Given the description of an element on the screen output the (x, y) to click on. 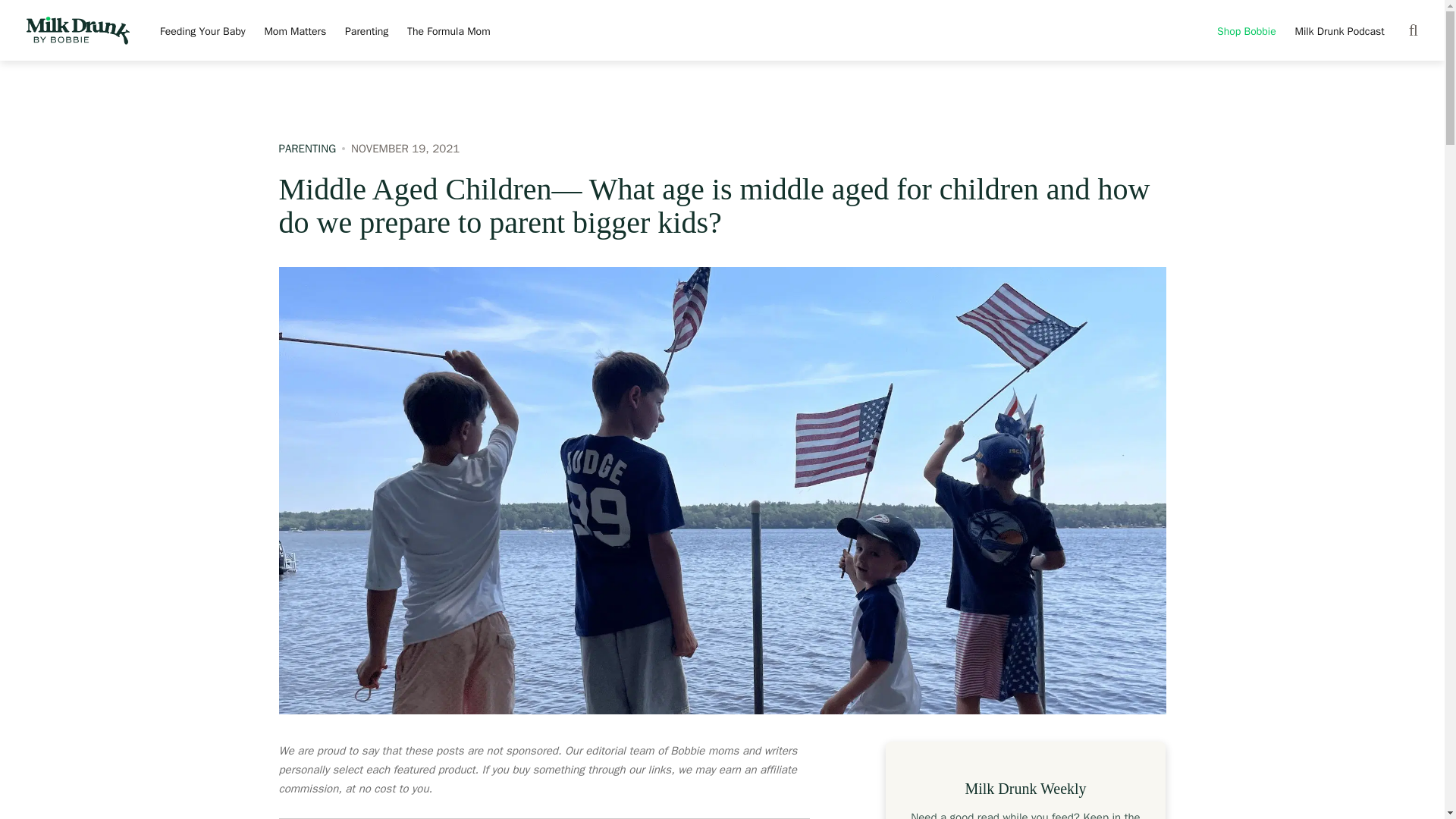
Milk Drunk (77, 31)
Milk Drunk Podcast (1339, 31)
Parenting (366, 31)
Feeding Your Baby (202, 31)
Shop Bobbie (1246, 31)
The Formula Mom (447, 31)
Mom Matters (294, 31)
PARENTING (315, 148)
